Given the description of an element on the screen output the (x, y) to click on. 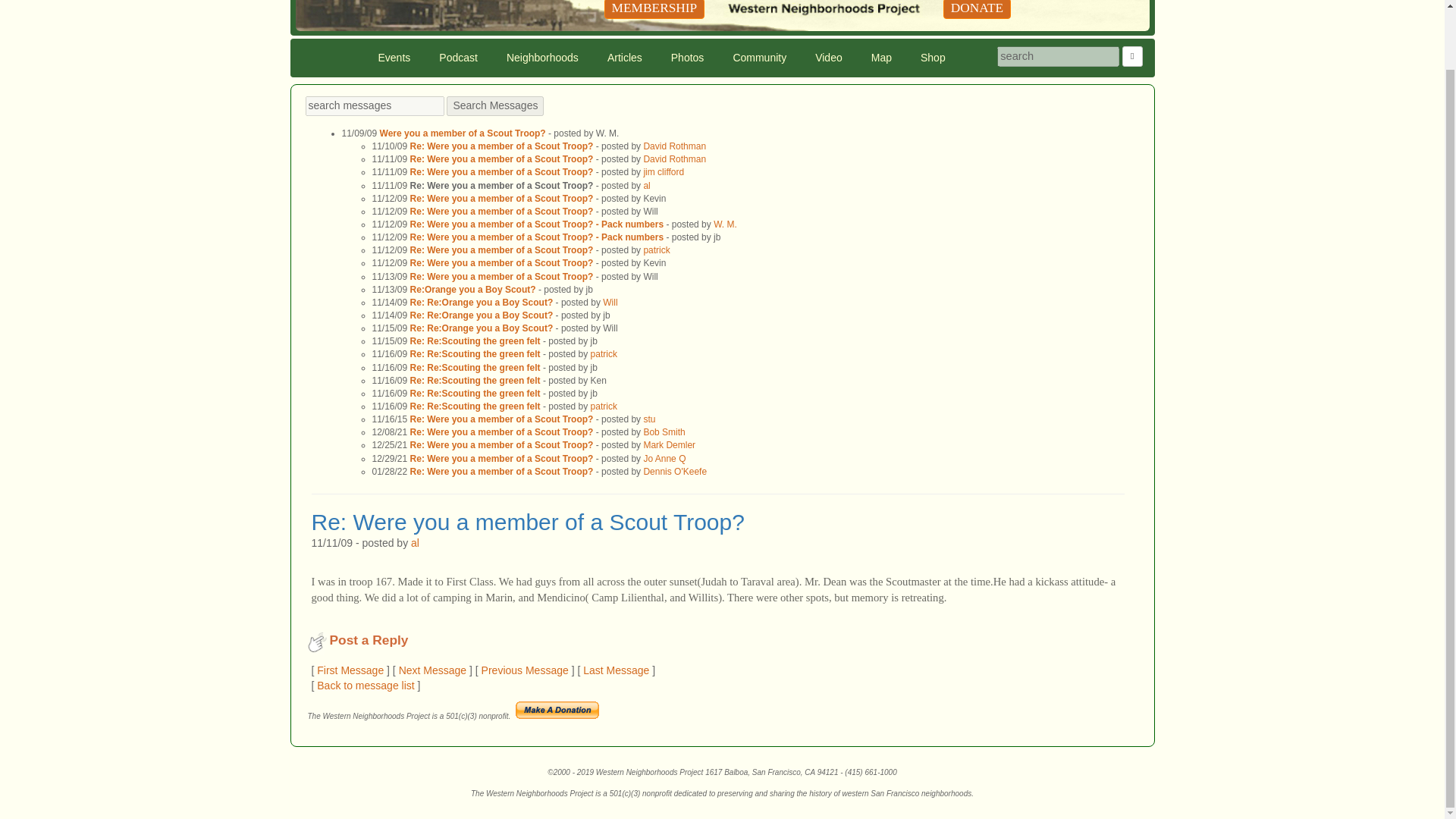
Re: Were you a member of a Scout Troop? (502, 145)
Re: Were you a member of a Scout Troop? (502, 158)
David Rothman (674, 145)
Video (828, 57)
search messages (374, 106)
Re: Re:Scouting the green felt (475, 340)
Were you a member of a Scout Troop? (463, 132)
Re: Were you a member of a Scout Troop? (502, 262)
Re: Were you a member of a Scout Troop? (502, 211)
Map (881, 57)
Articles (624, 57)
Shop (932, 57)
MEMBERSHIP (654, 9)
Photos (687, 57)
Community (758, 57)
